Given the description of an element on the screen output the (x, y) to click on. 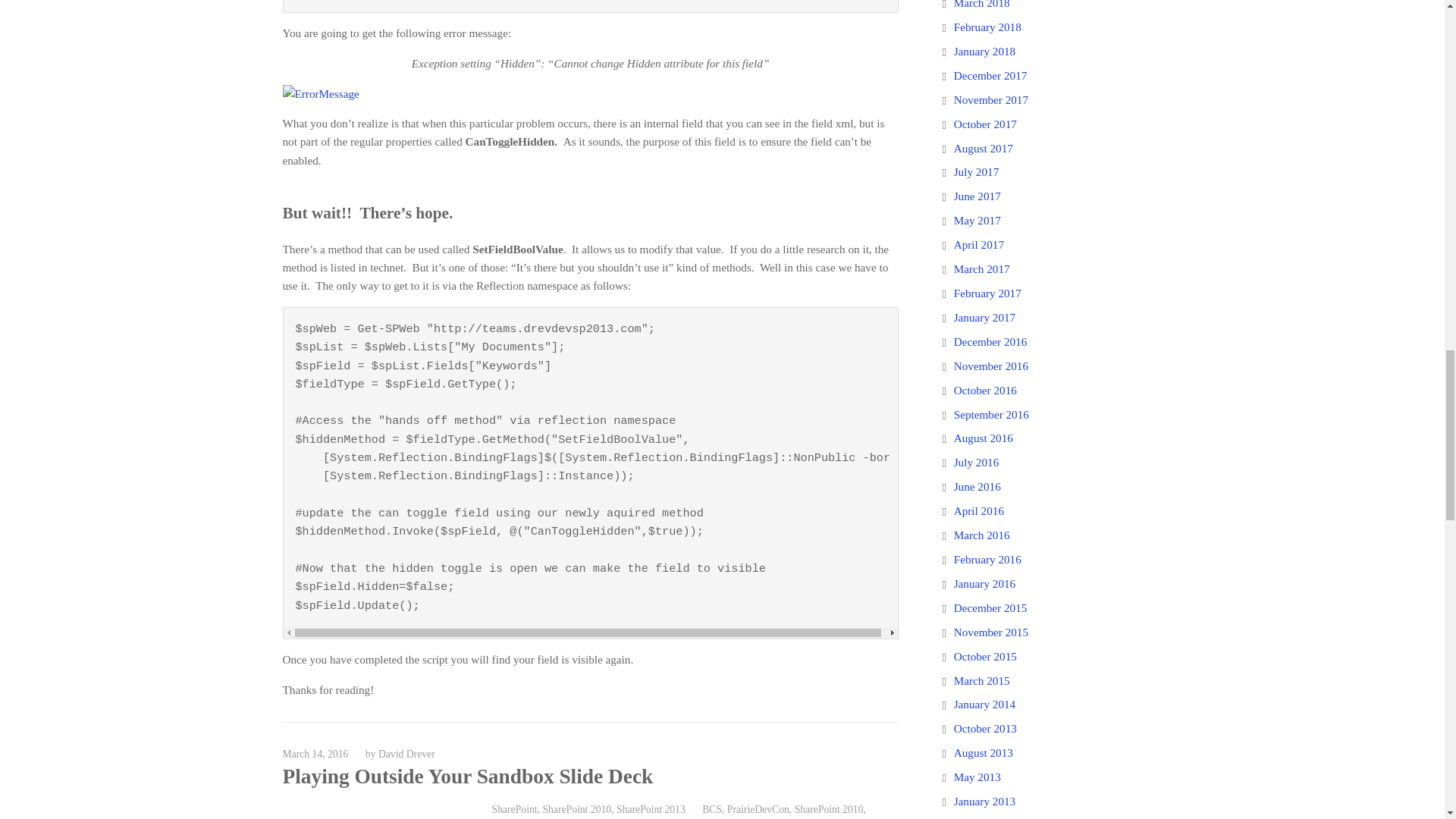
Posts by David Drever (406, 754)
First Attempt to Update Hidden Field (590, 6)
